Given the description of an element on the screen output the (x, y) to click on. 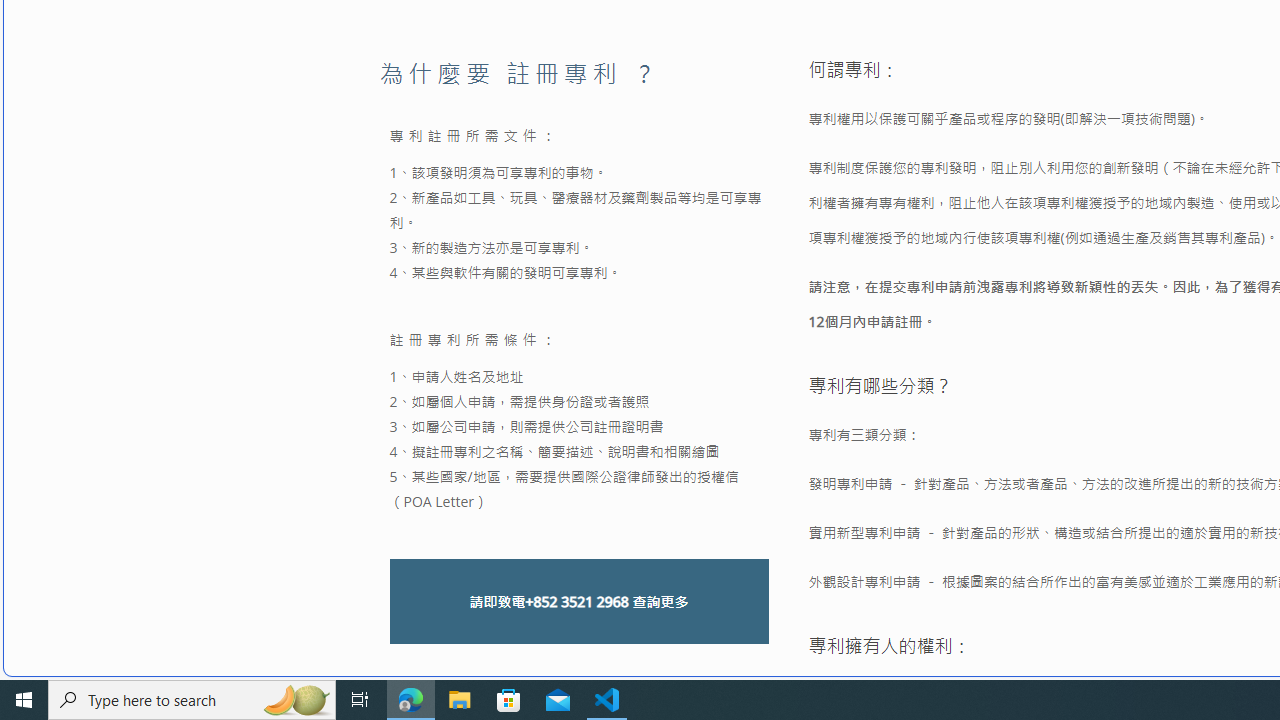
+852 3521 2968 (576, 601)
